Given the description of an element on the screen output the (x, y) to click on. 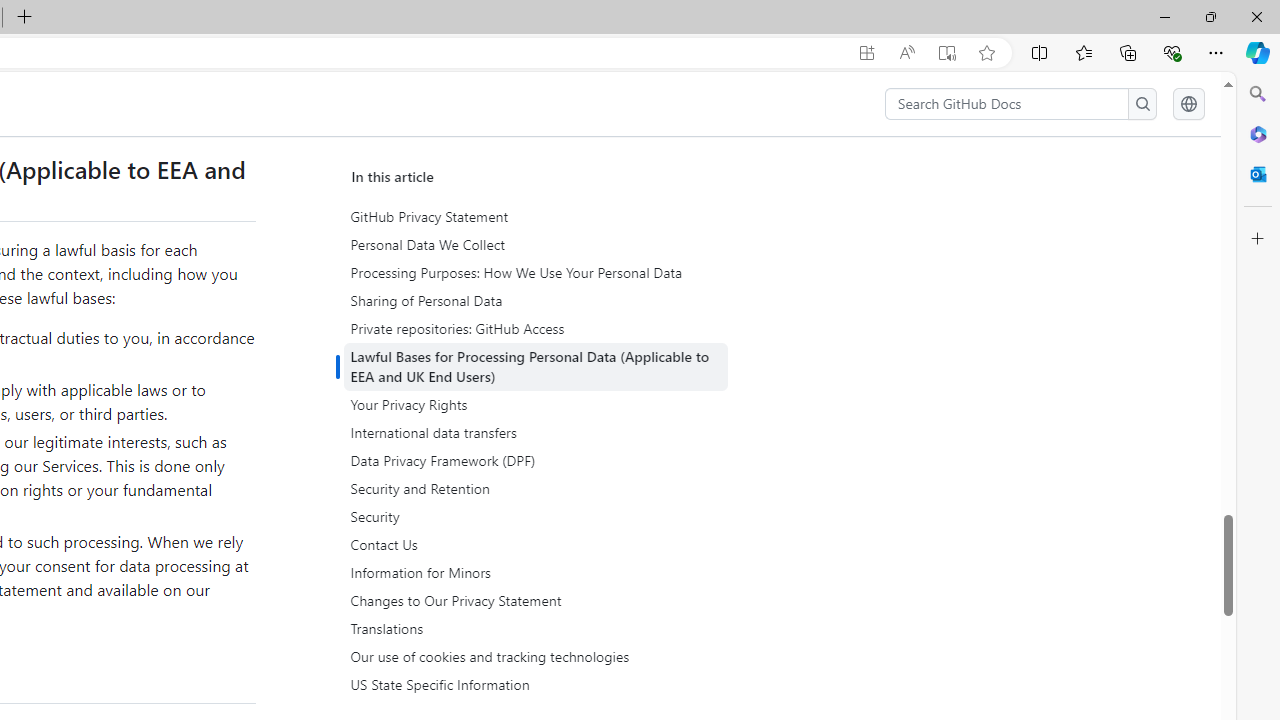
Data Privacy Framework (DPF) (538, 461)
Contact Us (535, 544)
US State Specific Information (535, 685)
Processing Purposes: How We Use Your Personal Data (538, 273)
International data transfers (538, 433)
Information for Minors (538, 572)
Contact Us (538, 544)
Changes to Our Privacy Statement (535, 600)
Processing Purposes: How We Use Your Personal Data (535, 273)
Personal Data We Collect (538, 245)
